Given the description of an element on the screen output the (x, y) to click on. 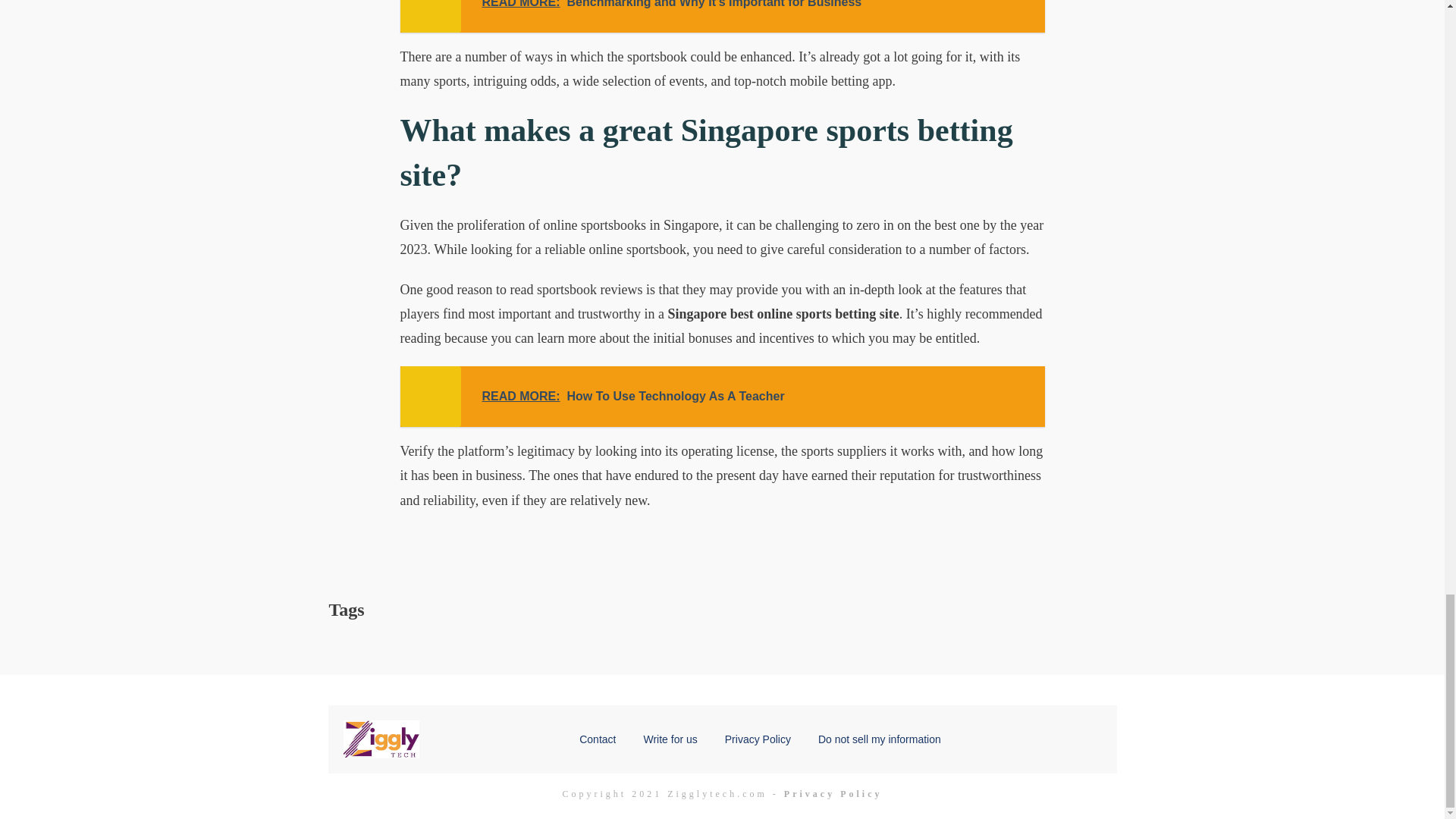
Write for us (670, 739)
Contact (597, 739)
Do not sell my information (879, 739)
Privacy Policy (722, 396)
